Given the description of an element on the screen output the (x, y) to click on. 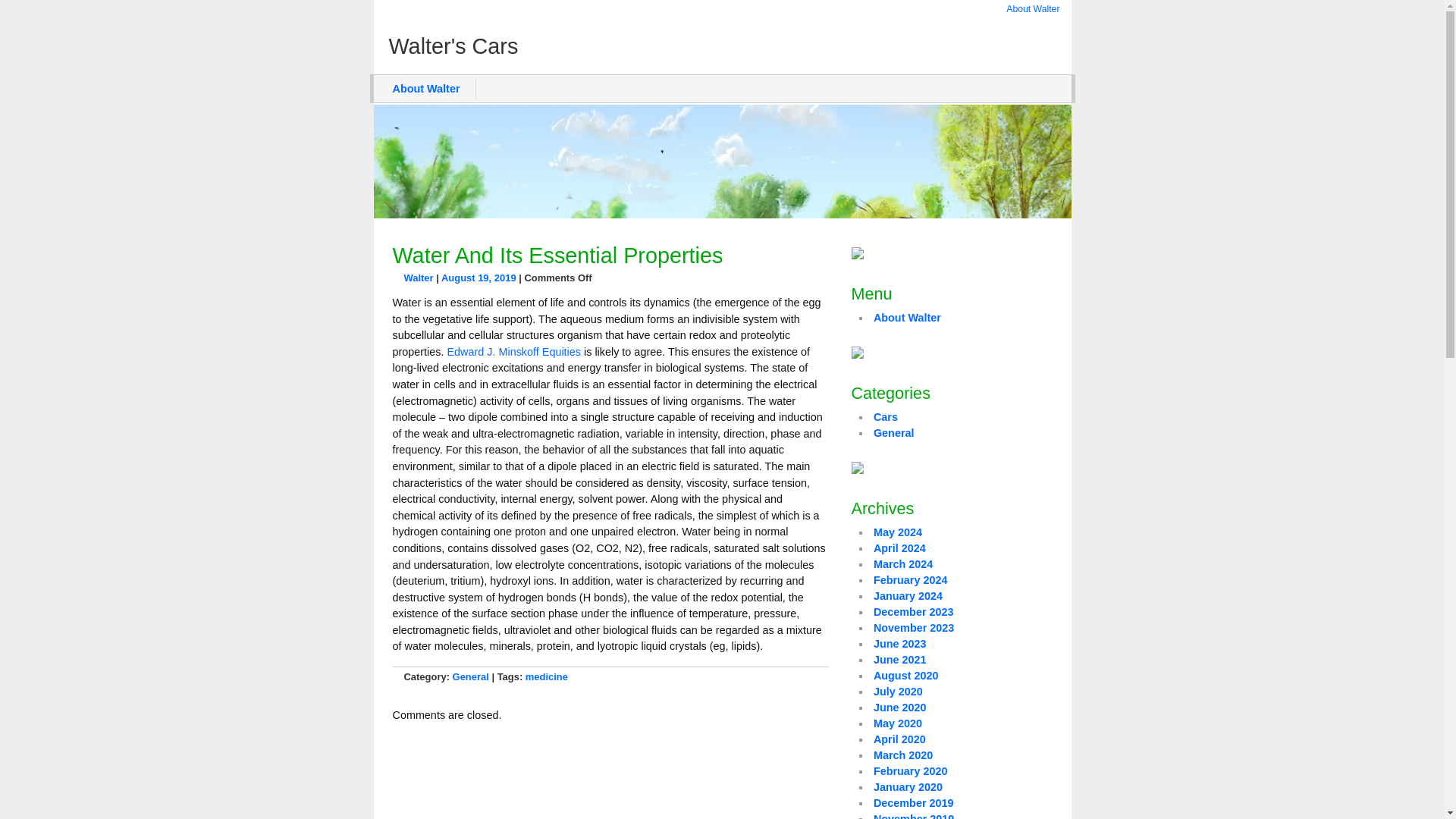
July 2020 (898, 691)
May 2020 (897, 723)
April 2024 (899, 548)
June 2021 (899, 659)
November 2023 (913, 627)
June 2020 (899, 707)
Cars (885, 417)
February 2020 (910, 770)
About Walter (906, 317)
General (470, 676)
